Given the description of an element on the screen output the (x, y) to click on. 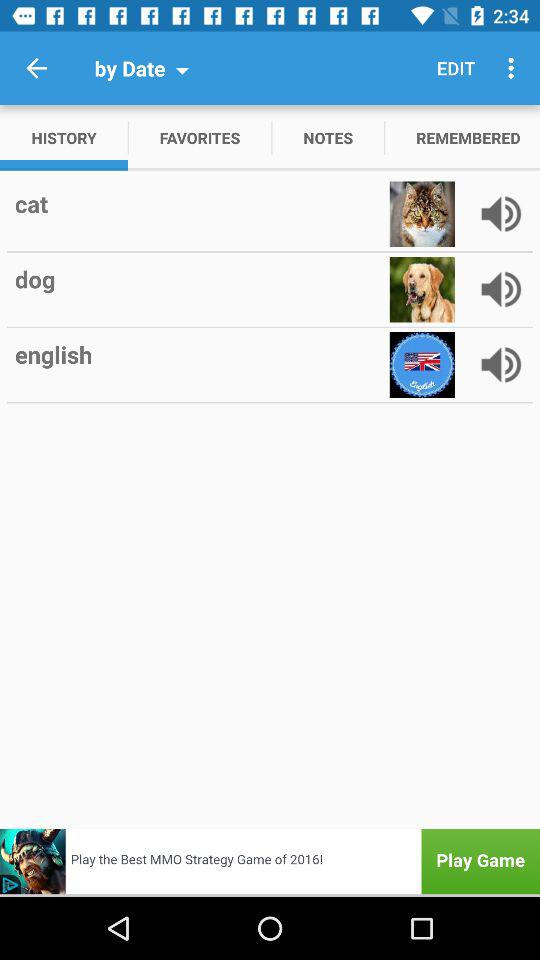
go do sound (501, 289)
